Given the description of an element on the screen output the (x, y) to click on. 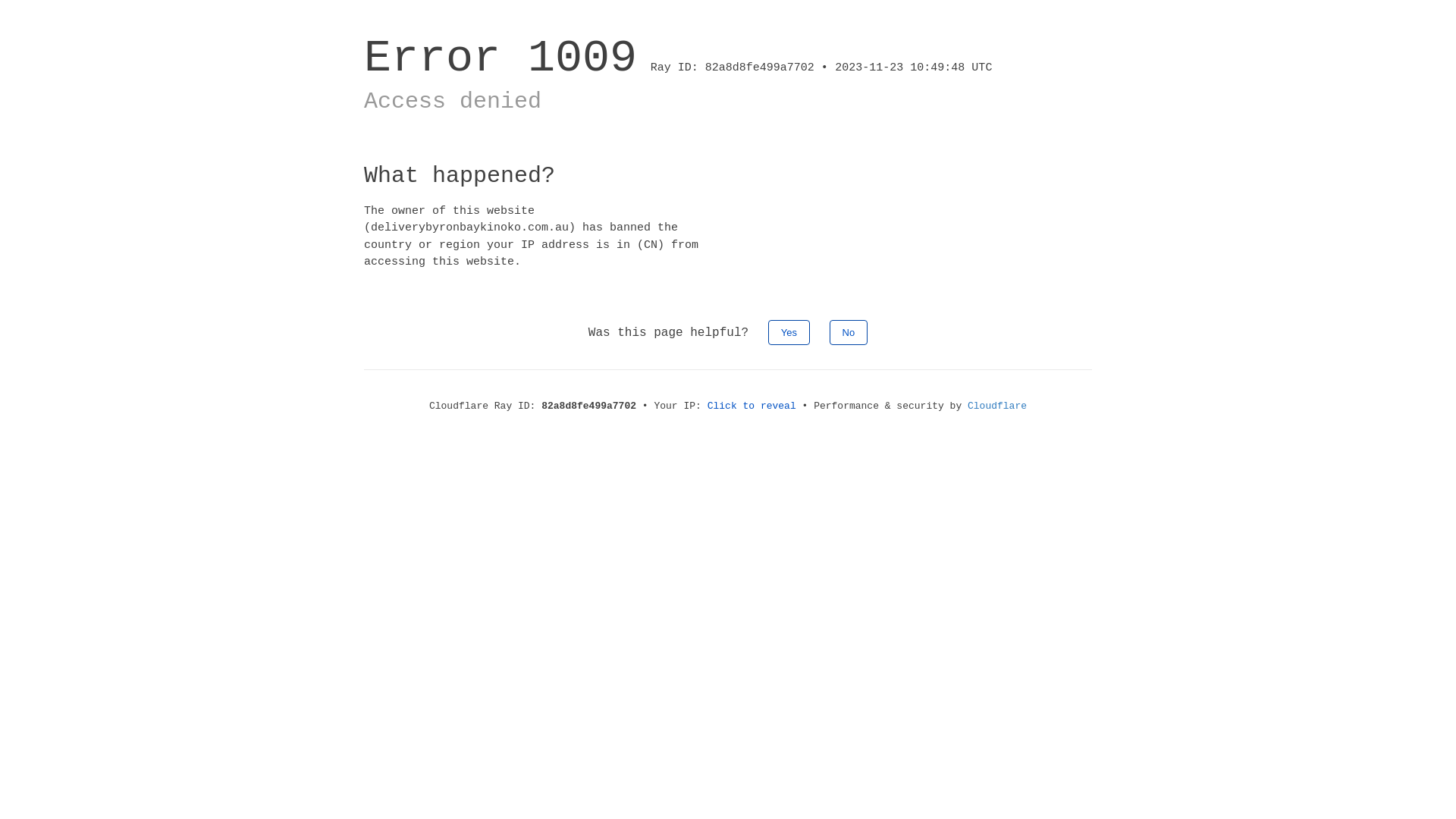
No Element type: text (848, 332)
Yes Element type: text (788, 332)
Click to reveal Element type: text (751, 405)
Cloudflare Element type: text (996, 405)
